Given the description of an element on the screen output the (x, y) to click on. 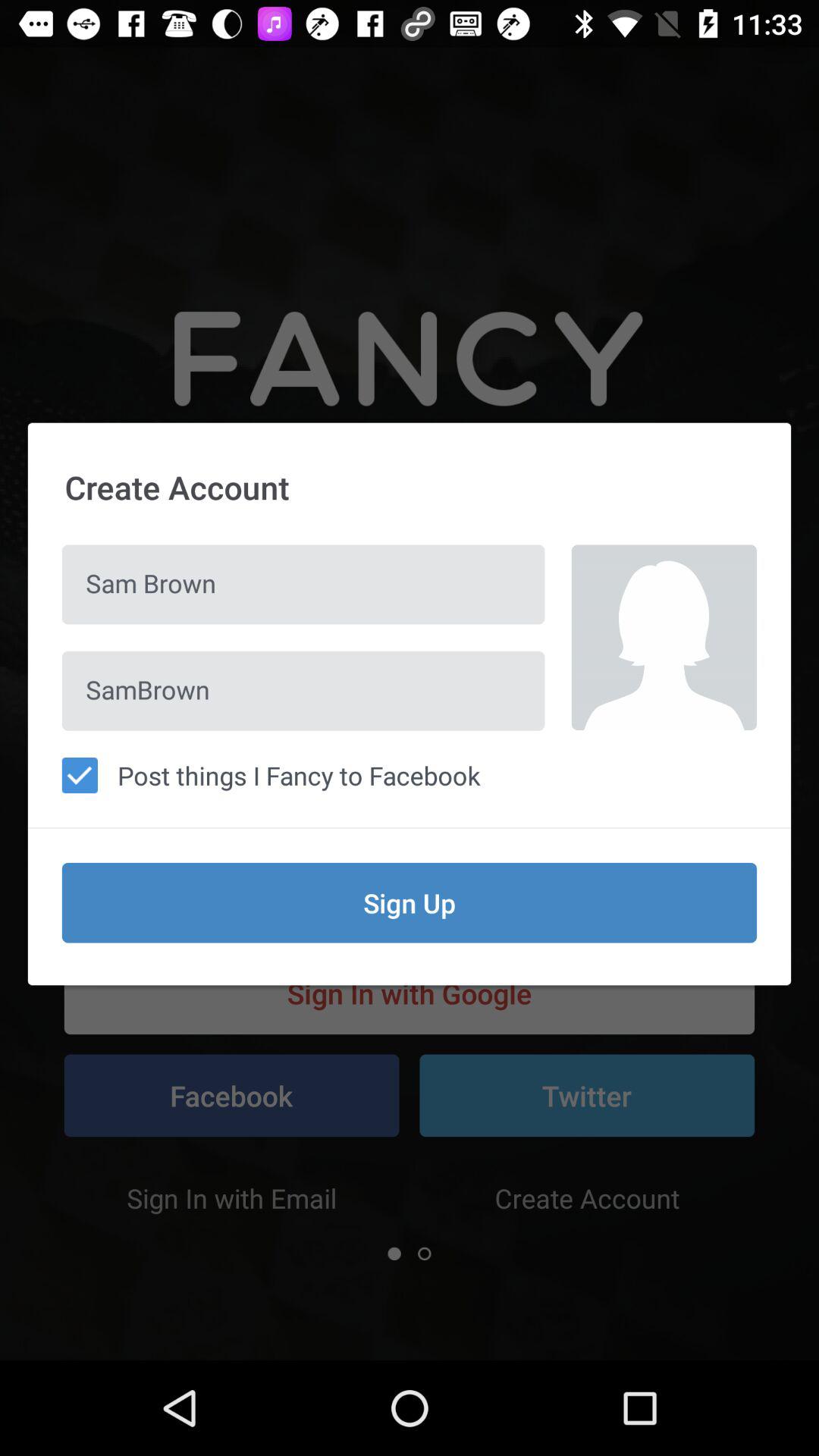
open the item above post things i icon (302, 690)
